Given the description of an element on the screen output the (x, y) to click on. 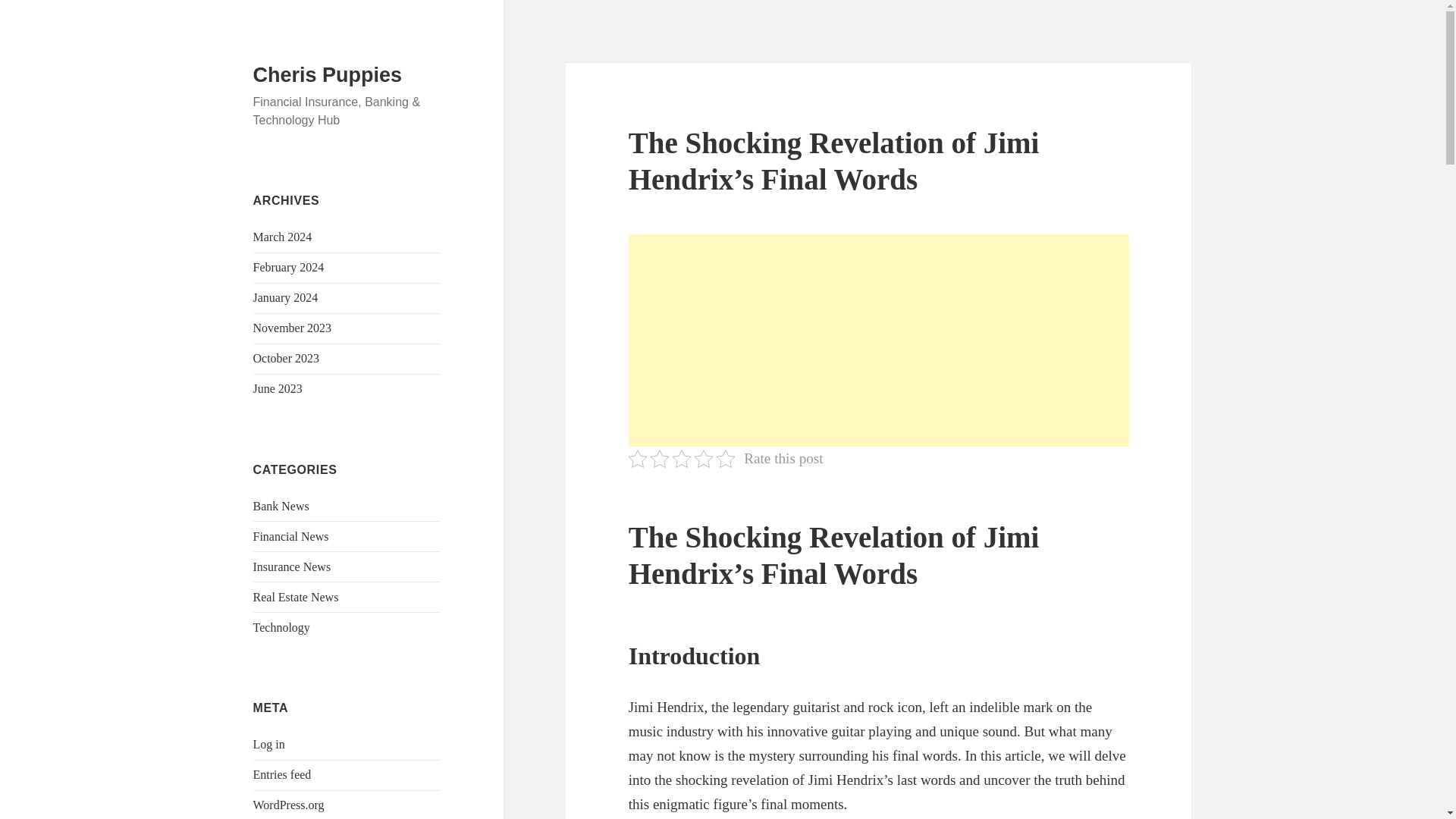
October 2023 (286, 358)
Real Estate News (296, 596)
Cheris Puppies (328, 74)
June 2023 (277, 388)
Entries feed (282, 774)
Technology (281, 626)
January 2024 (285, 297)
November 2023 (292, 327)
Log in (269, 744)
March 2024 (283, 236)
